Given the description of an element on the screen output the (x, y) to click on. 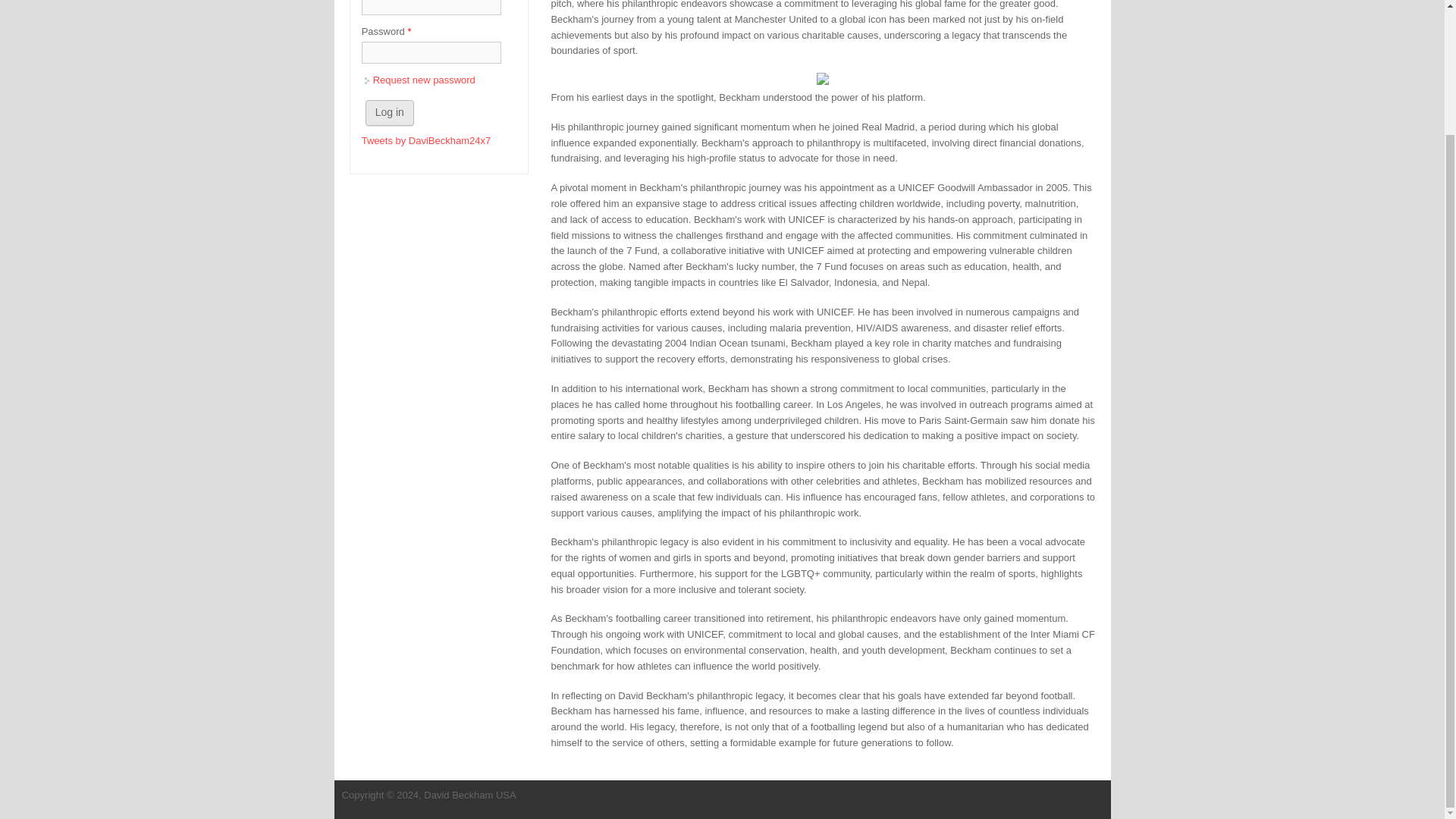
Tweets by DaviBeckham24x7 (426, 140)
Log in (389, 112)
Request new password via e-mail. (424, 79)
Request new password (424, 79)
Log in (389, 112)
